Given the description of an element on the screen output the (x, y) to click on. 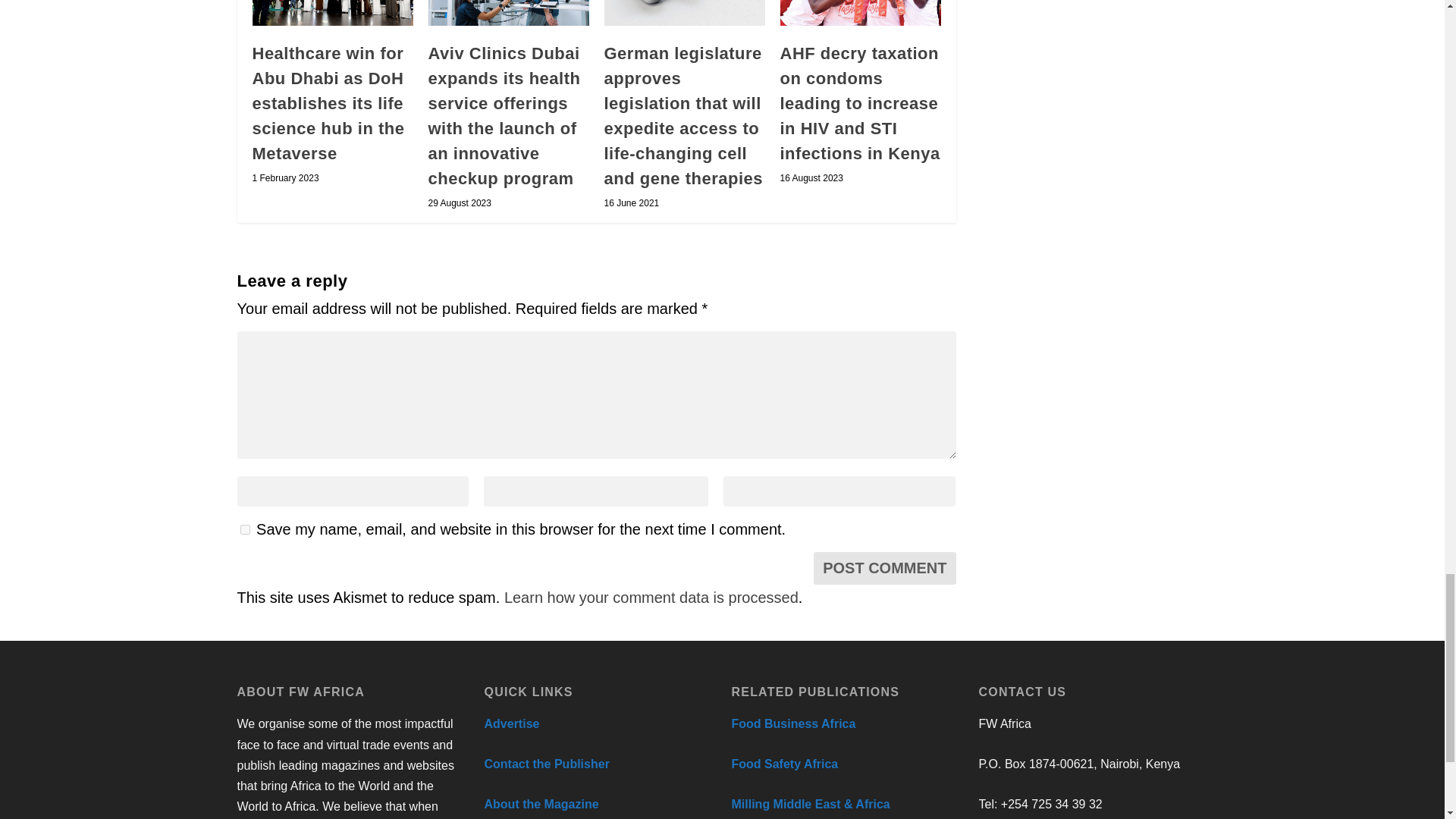
yes (244, 529)
Post Comment (884, 568)
